Given the description of an element on the screen output the (x, y) to click on. 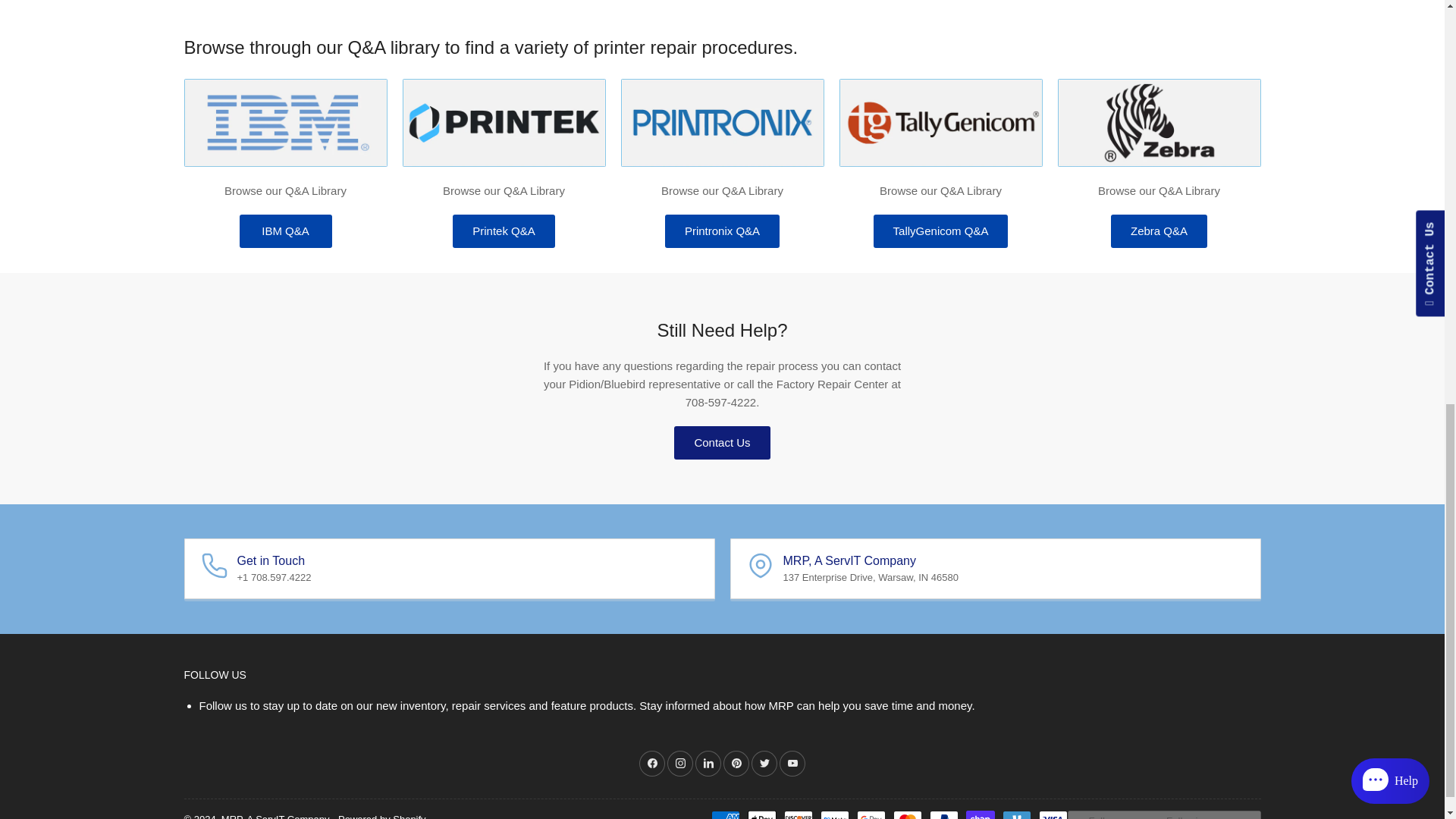
Discover (798, 814)
Meta Pay (834, 814)
American Express (725, 814)
helpdesk-channel-iframe (1288, 155)
Apple Pay (762, 814)
Google Pay (871, 814)
